Given the description of an element on the screen output the (x, y) to click on. 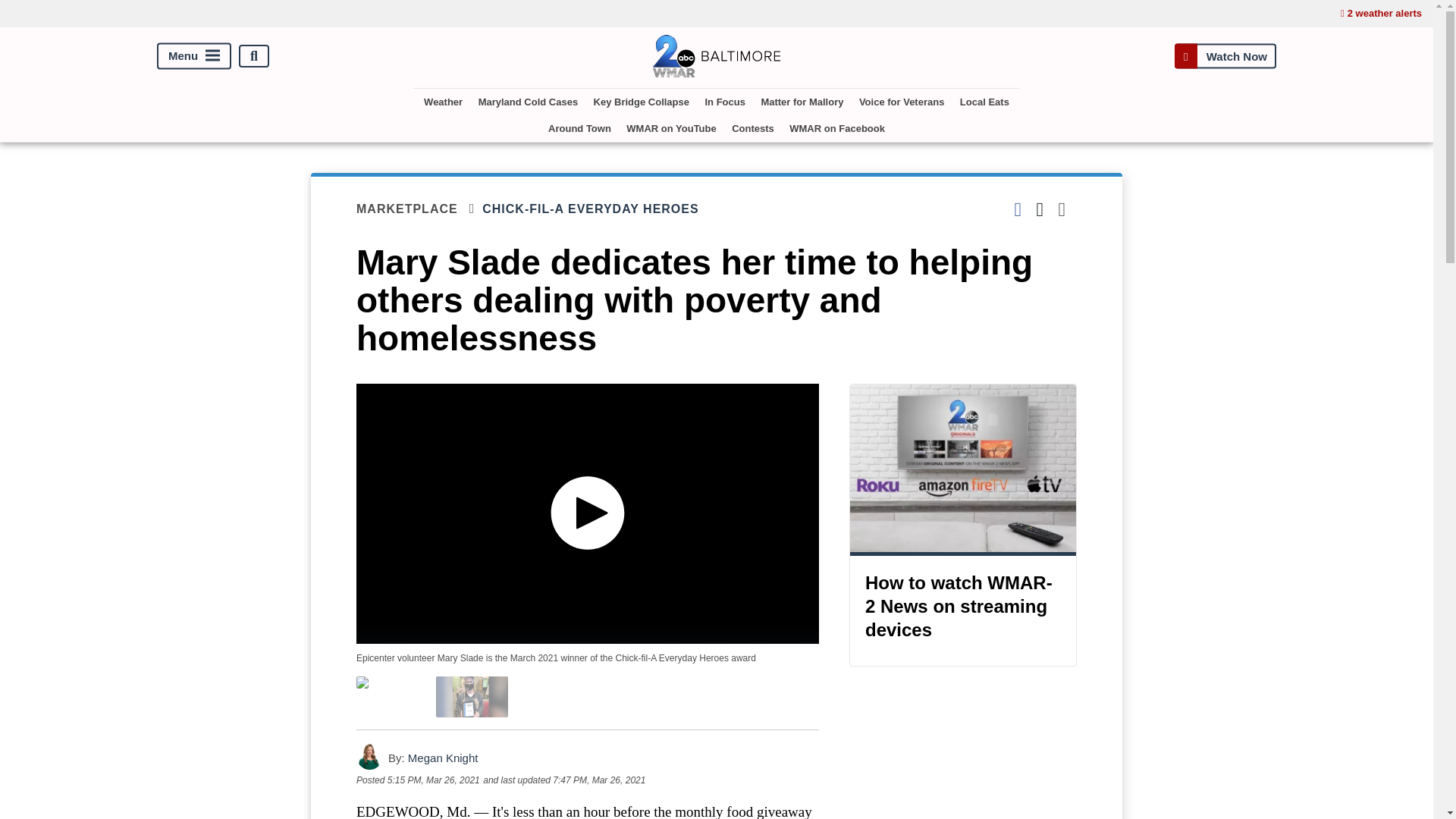
Menu (194, 56)
Watch Now (1224, 56)
